Given the description of an element on the screen output the (x, y) to click on. 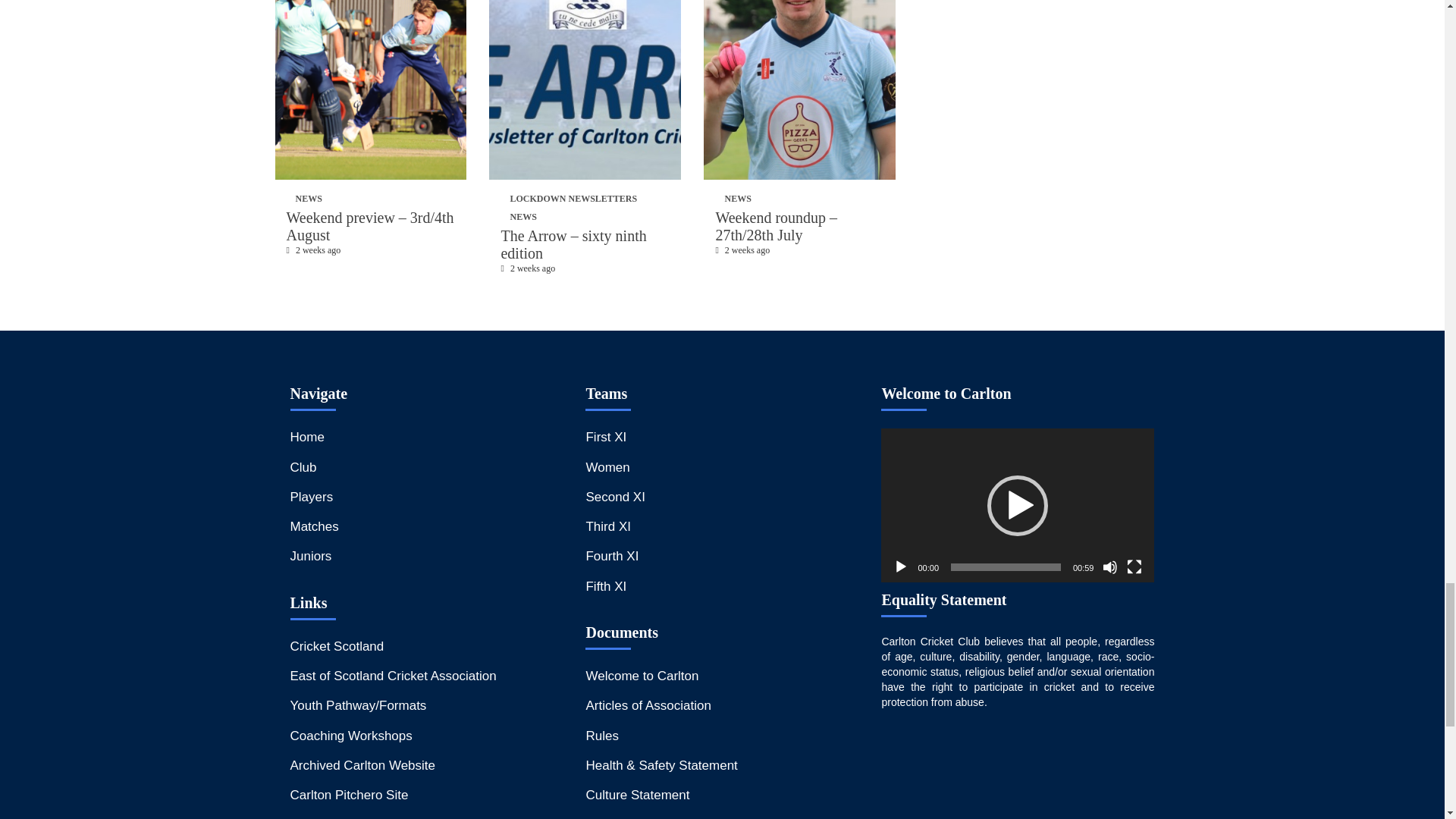
Fullscreen (1133, 566)
Play (900, 566)
Mute (1110, 566)
